Given the description of an element on the screen output the (x, y) to click on. 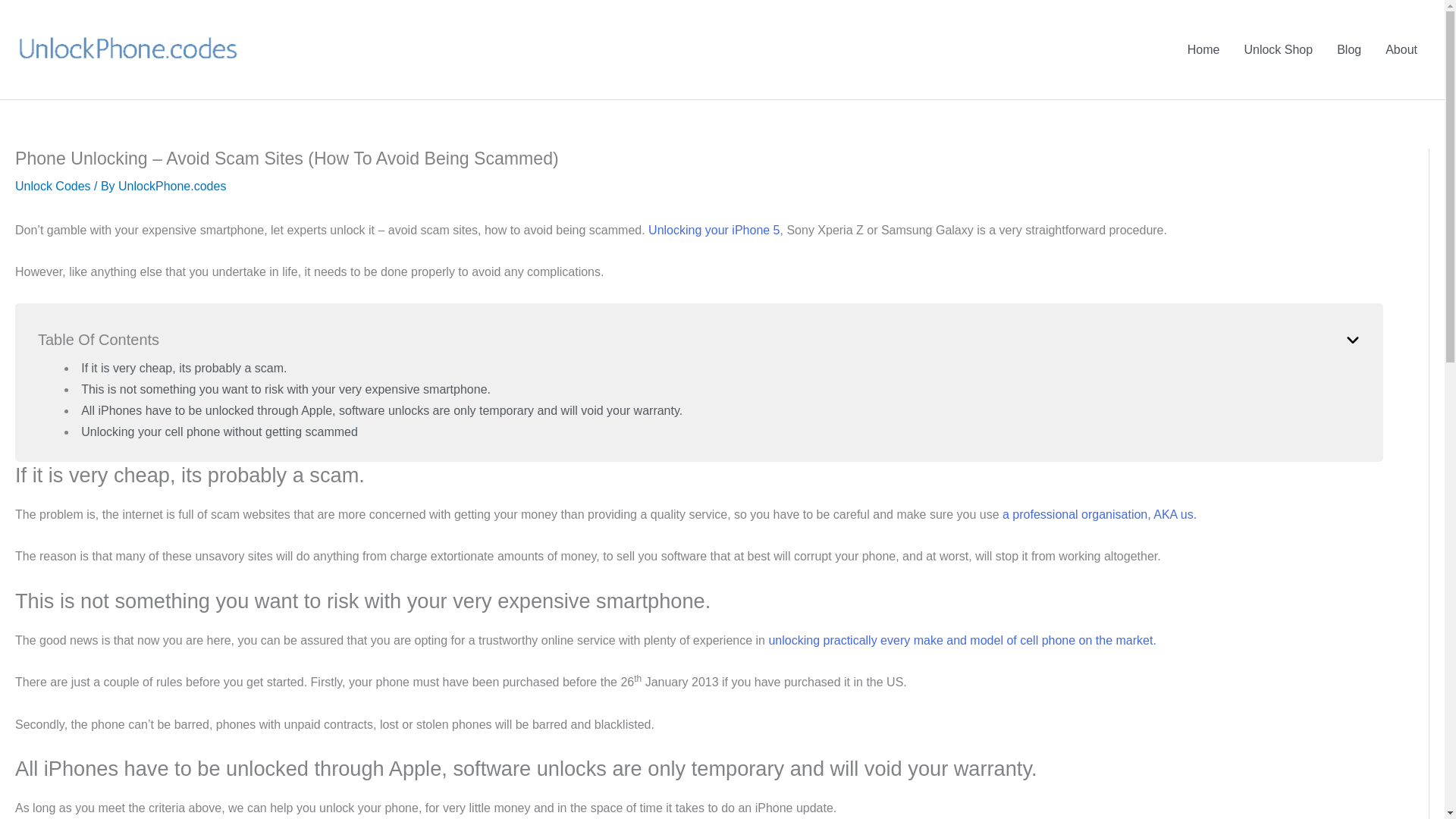
View all posts by UnlockPhone.codes (171, 185)
How to Unlock an iPhone from Telus Canada (712, 229)
Unlock Shop (1277, 49)
Unlock Codes (52, 185)
a professional organisation, AKA us. (1099, 513)
Unlocking your iPhone 5 (712, 229)
If it is very cheap, its probably a scam. (183, 367)
UnlockPhone.codes (171, 185)
a professional organisation, AKA us. (1099, 513)
Unlocking your cell phone without getting scammed (219, 431)
